Given the description of an element on the screen output the (x, y) to click on. 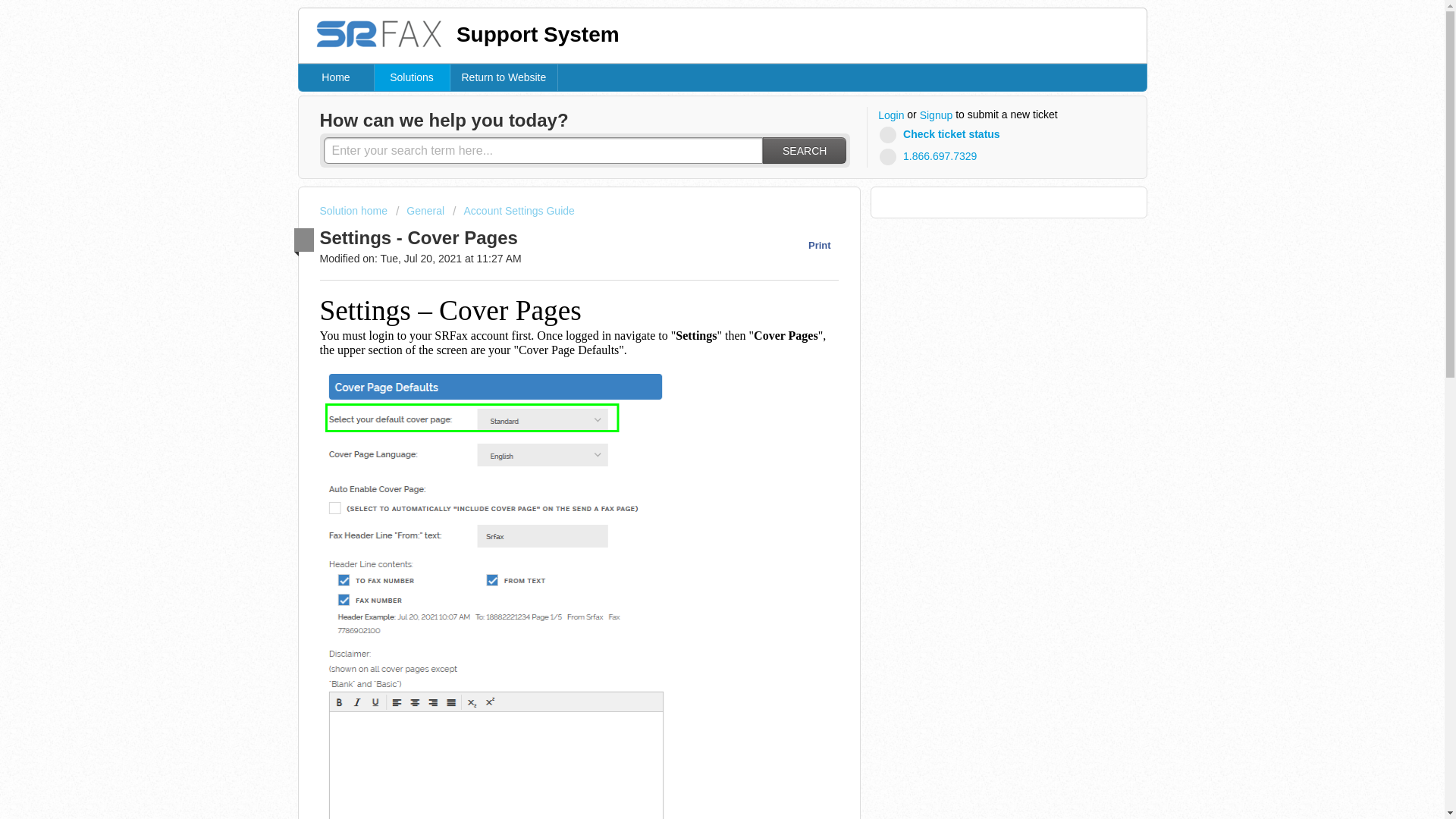
Check ticket status (941, 134)
SEARCH (803, 150)
Home (336, 77)
Return to Website (504, 77)
Print (812, 244)
1.866.697.7329 (929, 156)
Login (890, 115)
Account Settings Guide (513, 210)
Check ticket status (941, 134)
Solutions (411, 77)
